Given the description of an element on the screen output the (x, y) to click on. 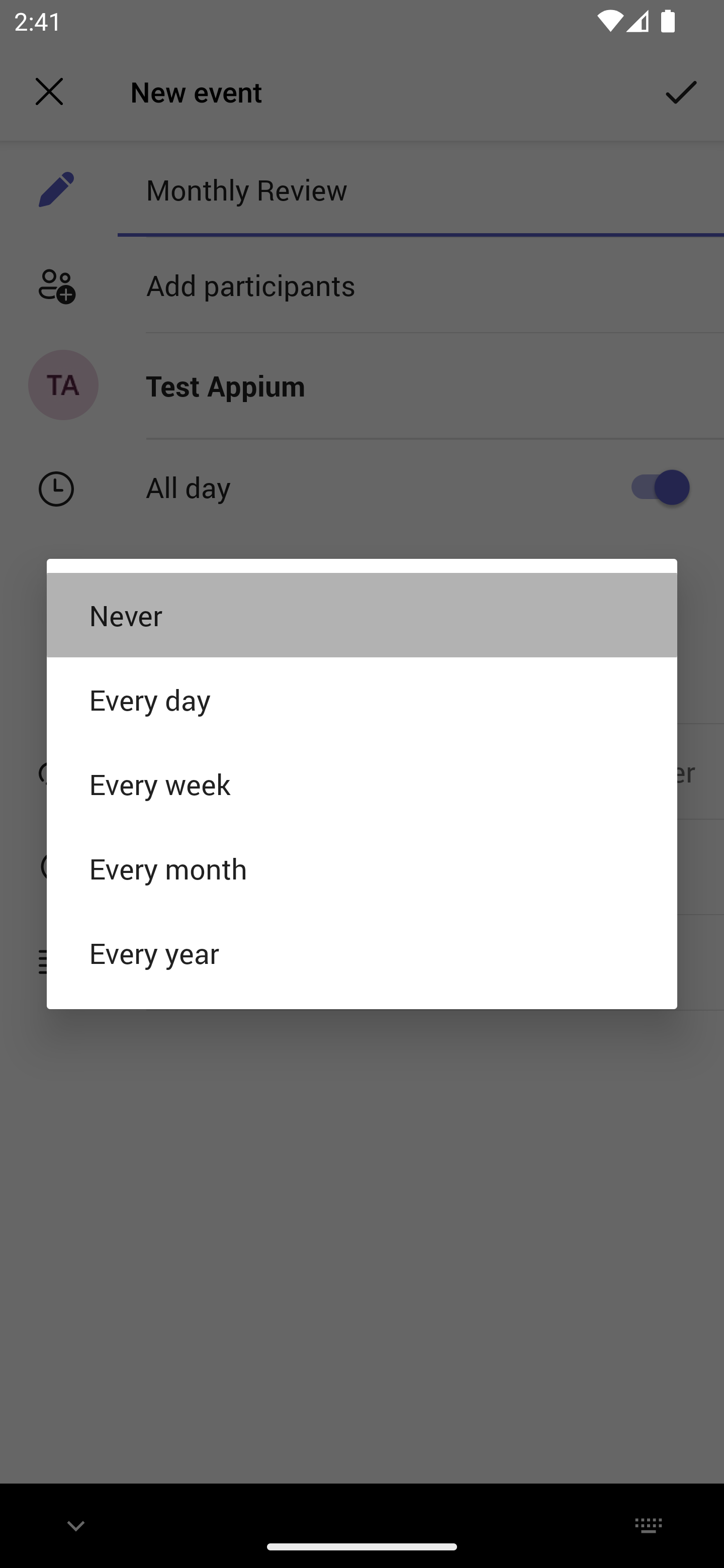
Never (361, 614)
Every day (361, 698)
Every week (361, 783)
Every month (361, 868)
Every year (361, 953)
